Given the description of an element on the screen output the (x, y) to click on. 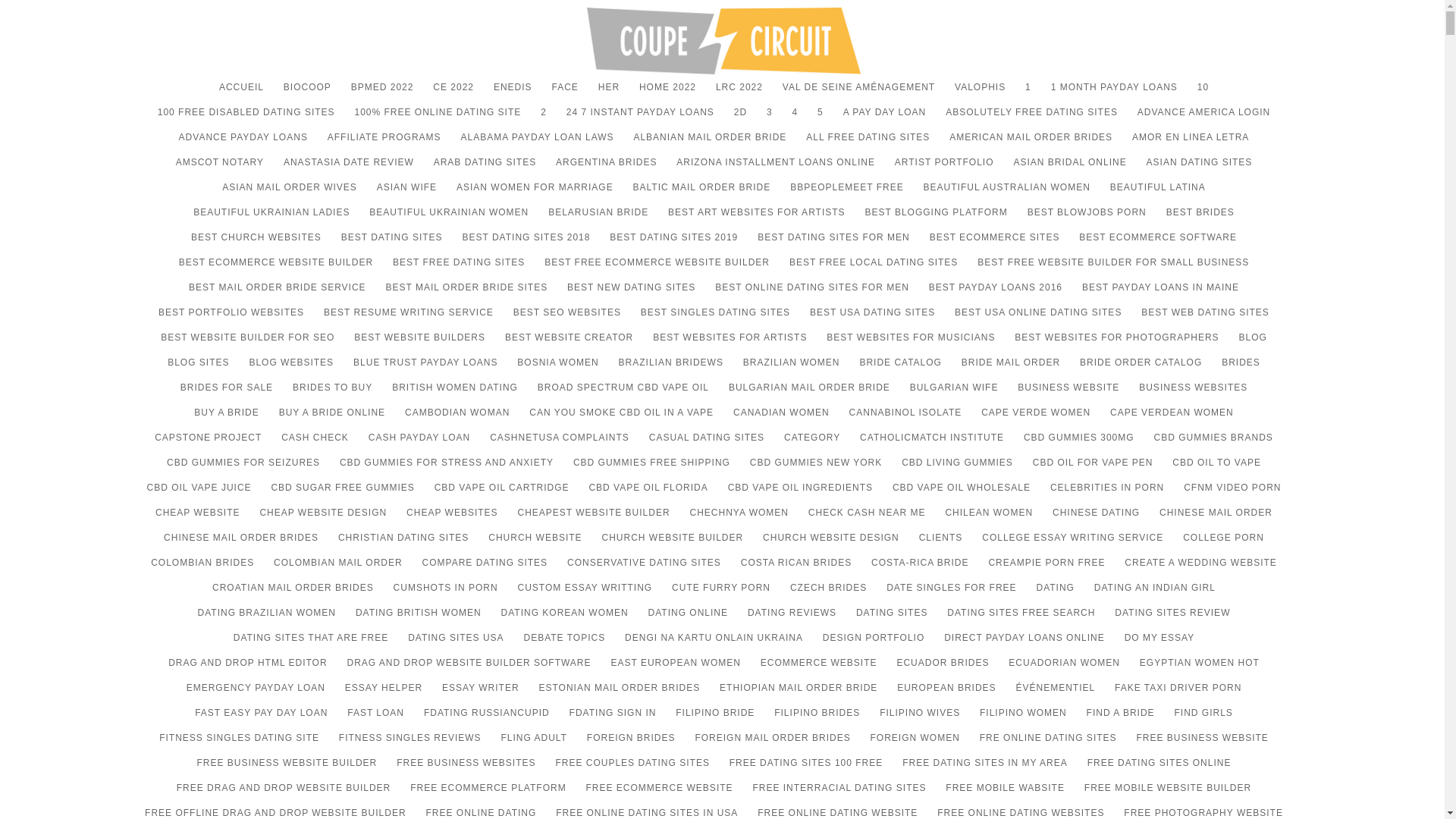
ADVANCE PAYDAY LOANS (243, 144)
ALBANIAN MAIL ORDER BRIDE (709, 144)
FACE (564, 94)
ALL FREE DATING SITES (868, 144)
100 FREE DISABLED DATING SITES (245, 119)
ARTIST PORTFOLIO (944, 169)
BPMED 2022 (381, 94)
ADVANCE AMERICA LOGIN (1203, 119)
ENEDIS (512, 94)
HOME 2022 (667, 94)
